Given the description of an element on the screen output the (x, y) to click on. 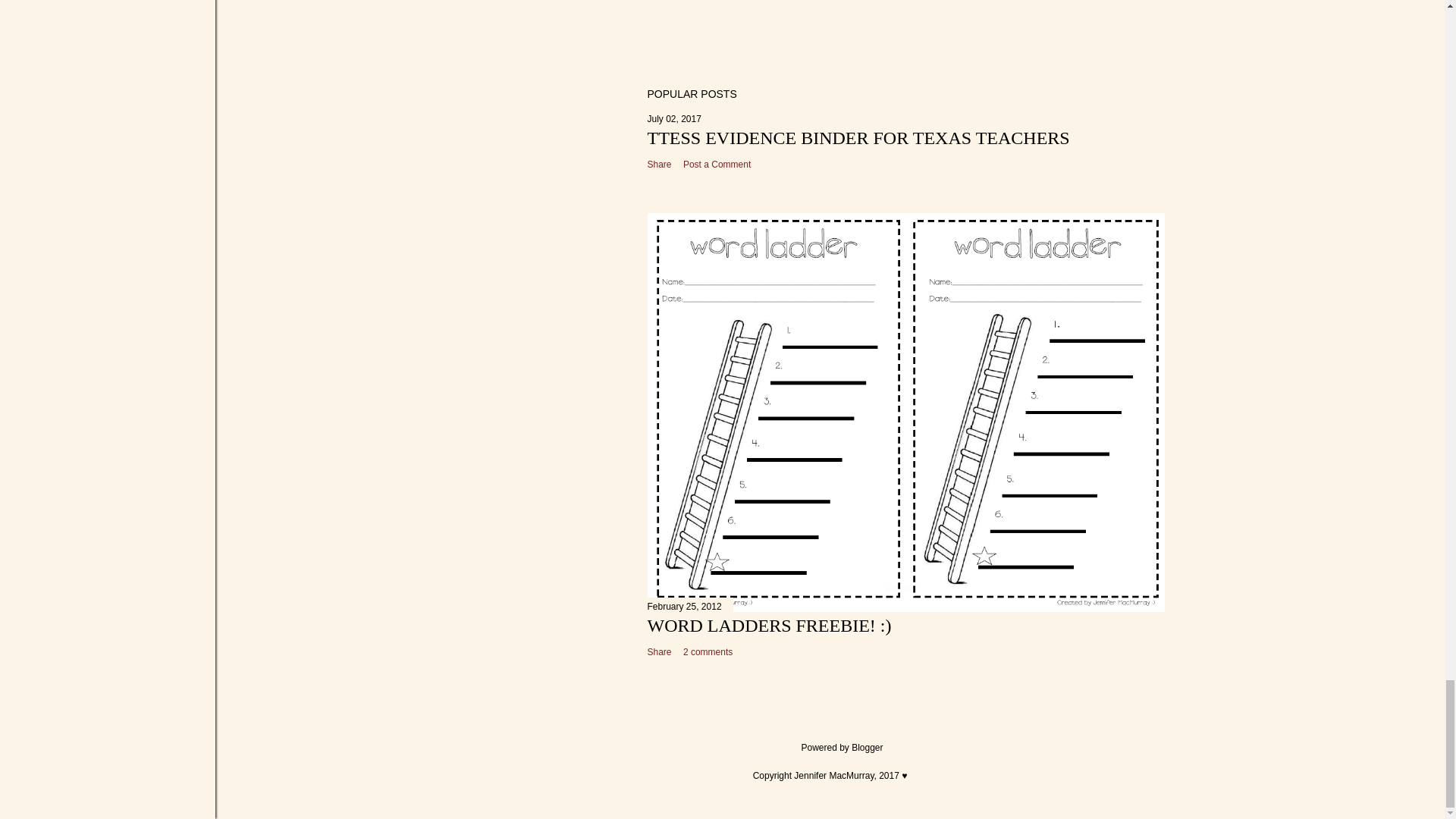
permanent link (674, 118)
